Given the description of an element on the screen output the (x, y) to click on. 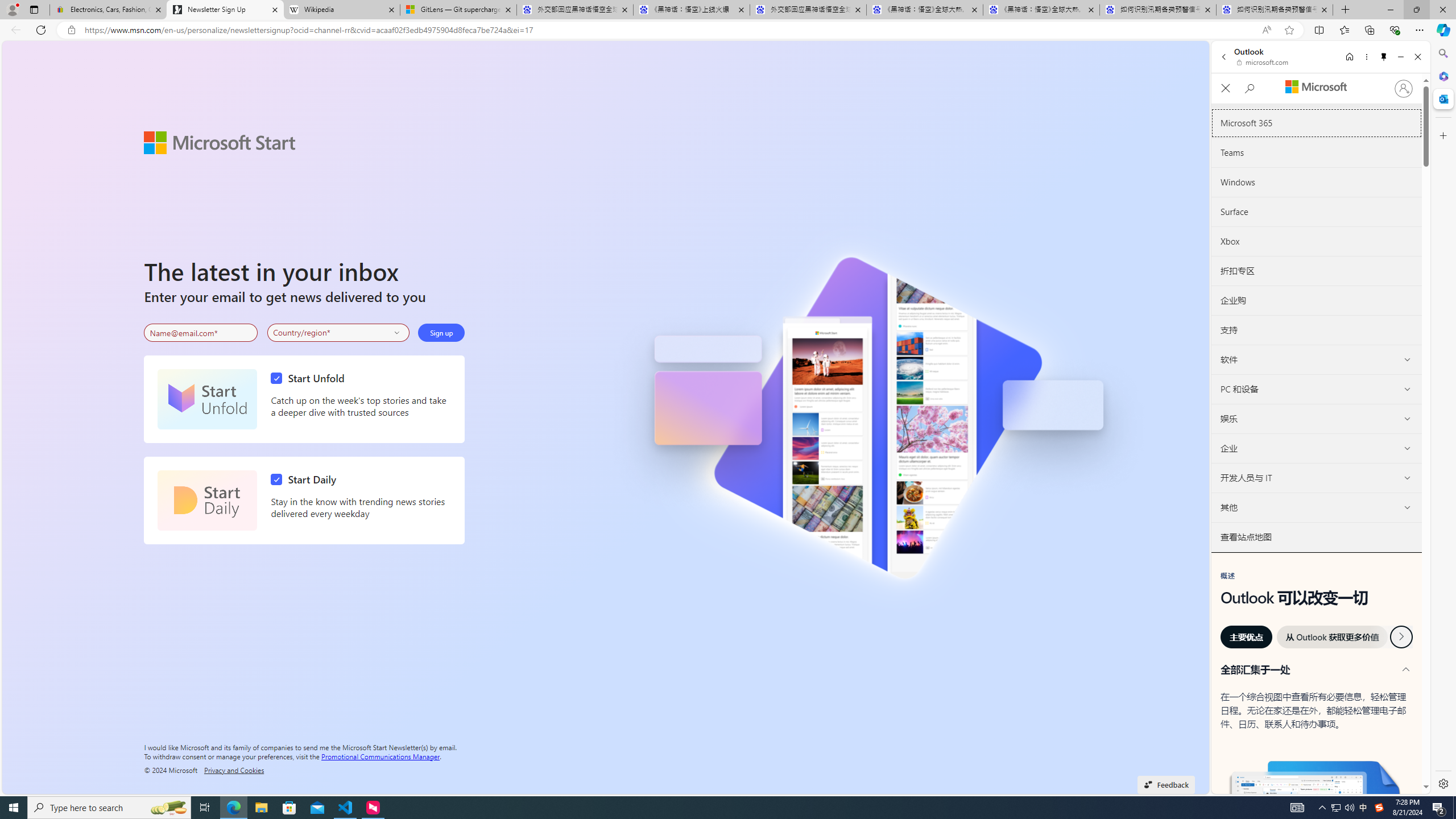
microsoft.com (1263, 61)
Windows (1316, 182)
